Given the description of an element on the screen output the (x, y) to click on. 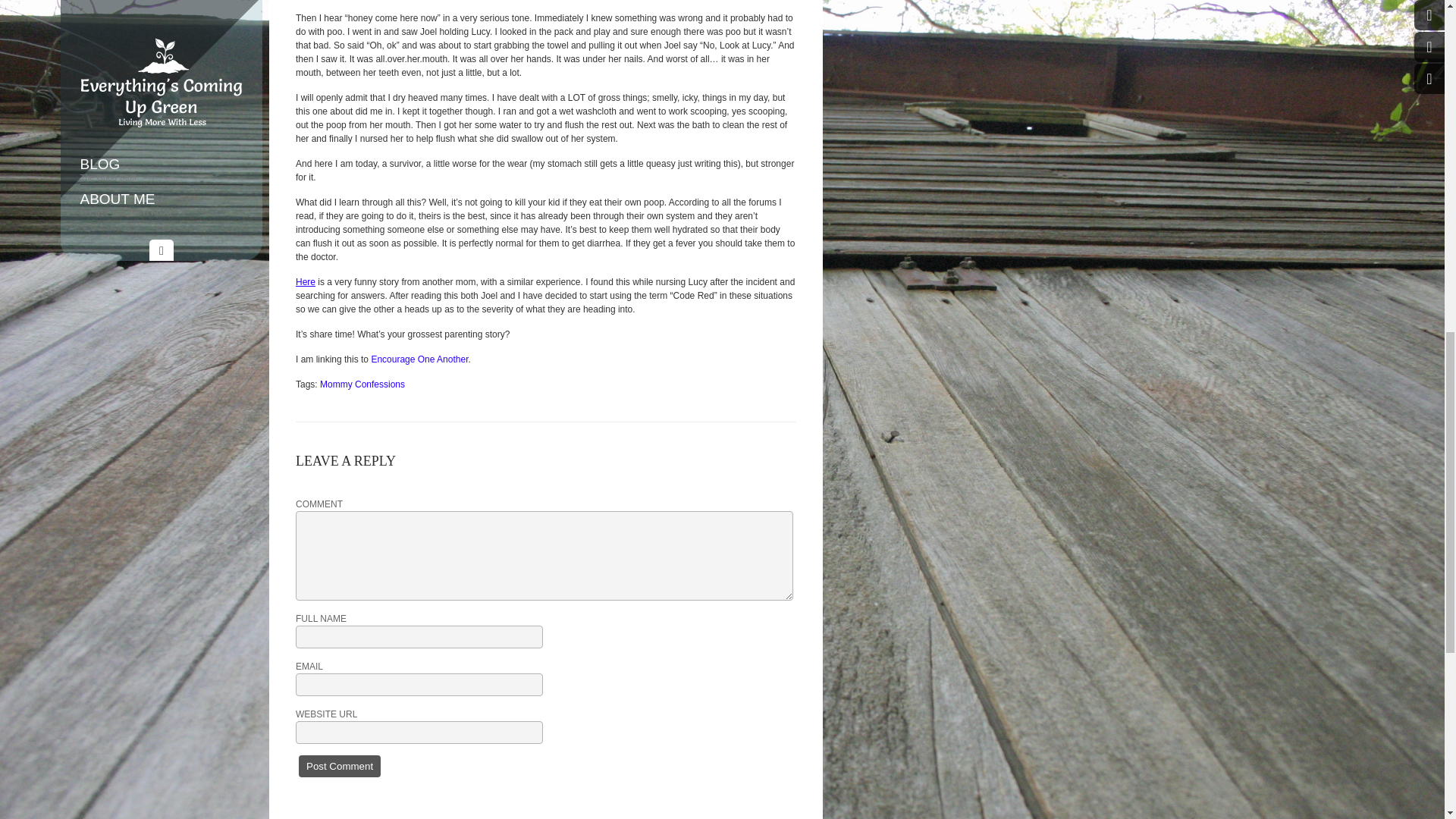
Post Comment (339, 766)
Encourage One Another (419, 358)
Mommy Confessions (362, 384)
Post Comment (339, 766)
Here (305, 281)
